Given the description of an element on the screen output the (x, y) to click on. 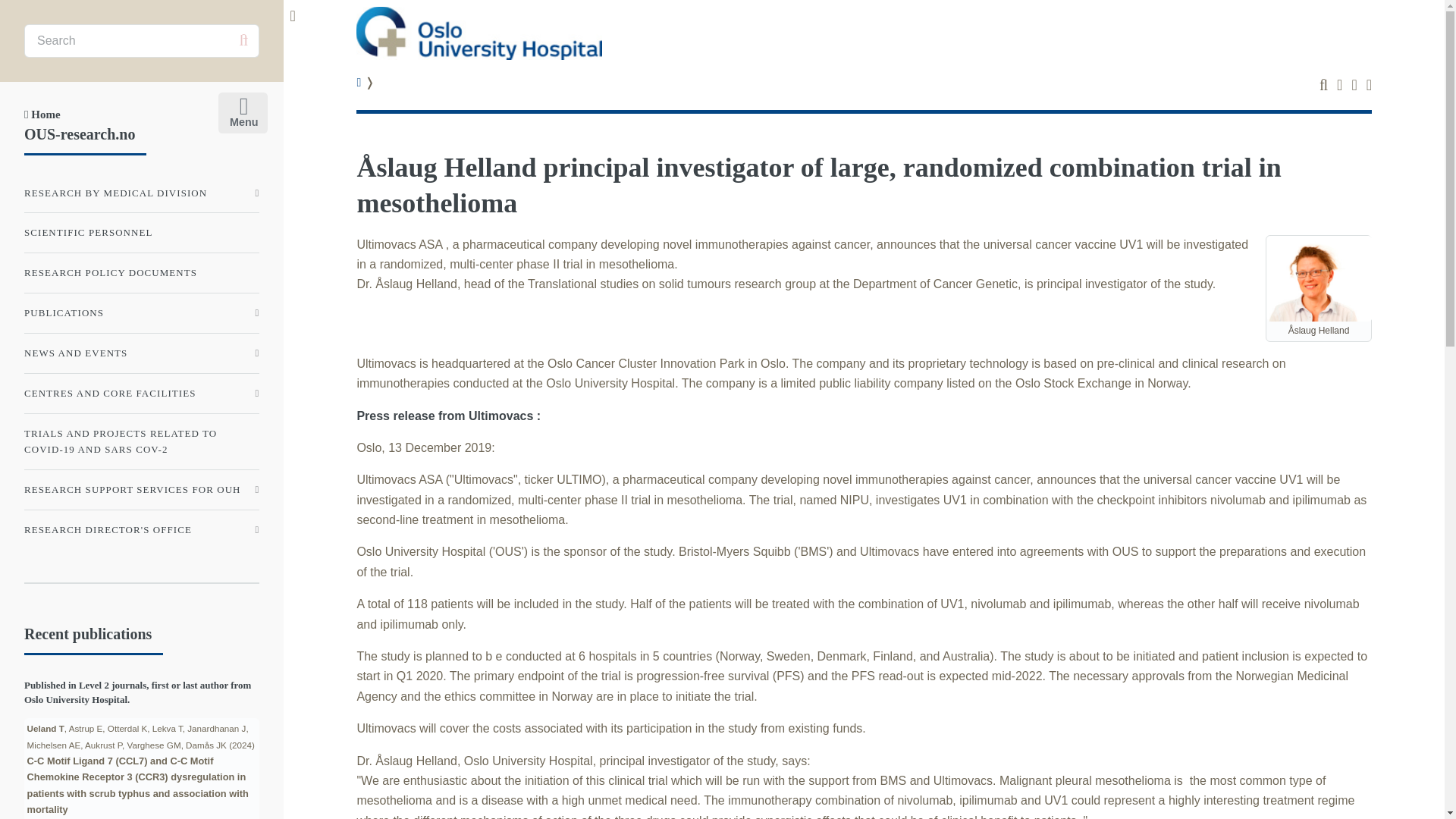
RESEARCH POLICY DOCUMENTS (141, 272)
OUH - OUS-research.no (479, 33)
OUS-research.no (79, 134)
TRIALS AND PROJECTS RELATED TO COVID-19 AND SARS COV-2 (141, 441)
Menu (240, 108)
CENTRES AND CORE FACILITIES (141, 393)
SCIENTIFIC PERSONNEL (141, 232)
PUBLICATIONS (141, 312)
Search (243, 40)
Home (42, 114)
